Given the description of an element on the screen output the (x, y) to click on. 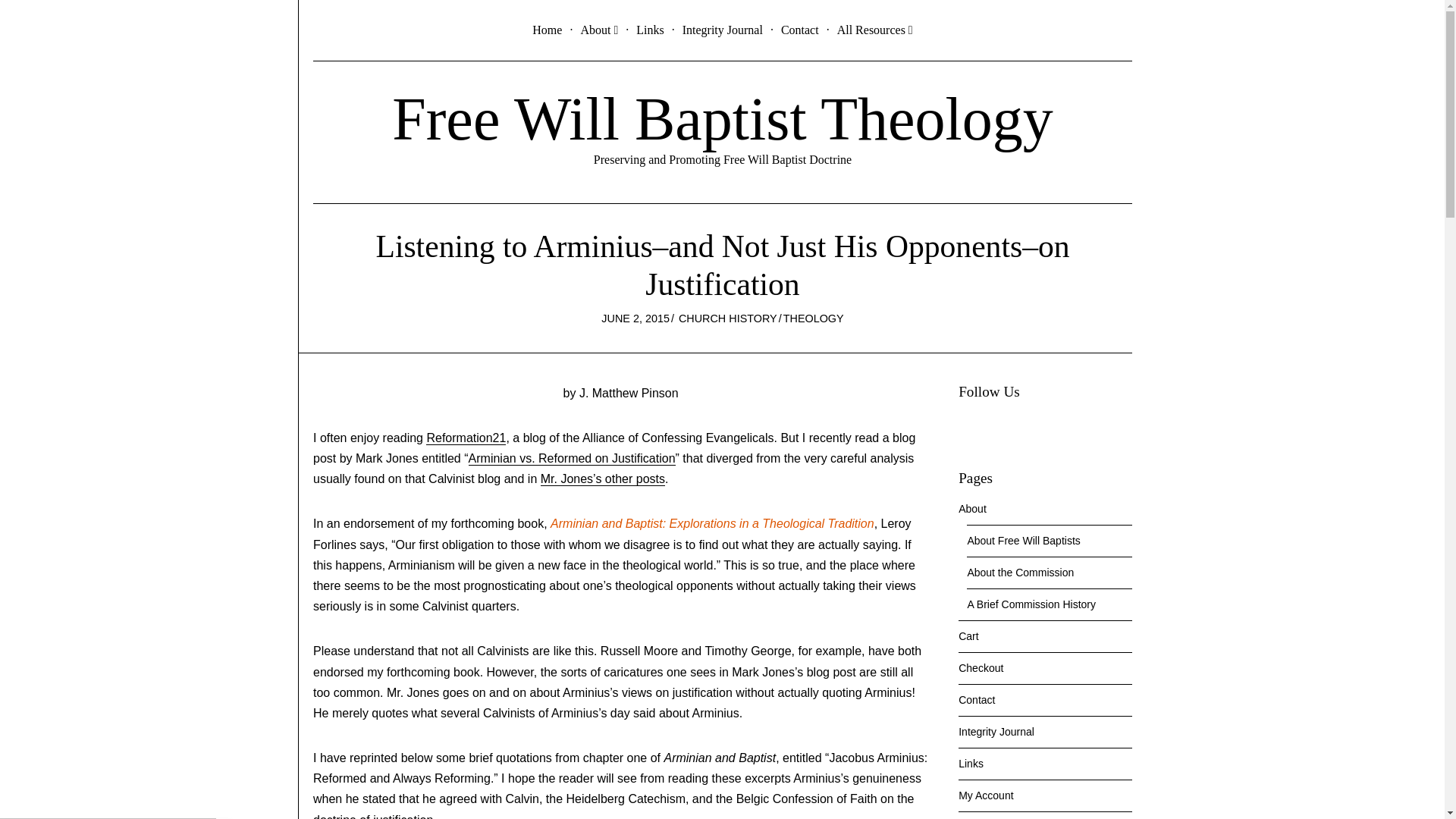
Integrity Journal (722, 29)
Links (649, 29)
All Resources (874, 29)
THEOLOGY (813, 318)
About (598, 29)
Reformation21 (465, 438)
CHURCH HISTORY (727, 318)
Arminian vs. Reformed on Justification (571, 459)
Home (547, 29)
